Given the description of an element on the screen output the (x, y) to click on. 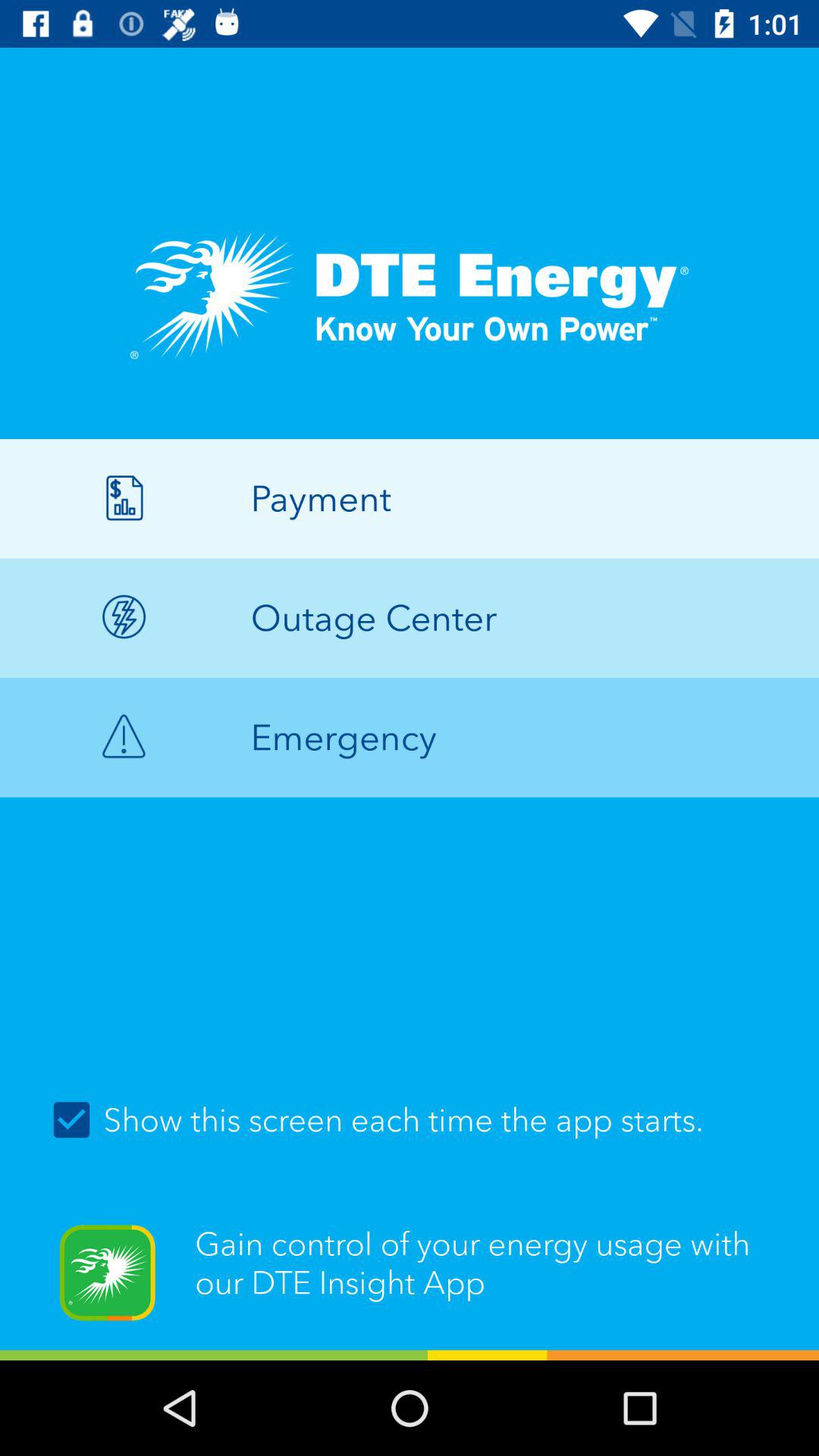
tap show this screen (409, 1119)
